Given the description of an element on the screen output the (x, y) to click on. 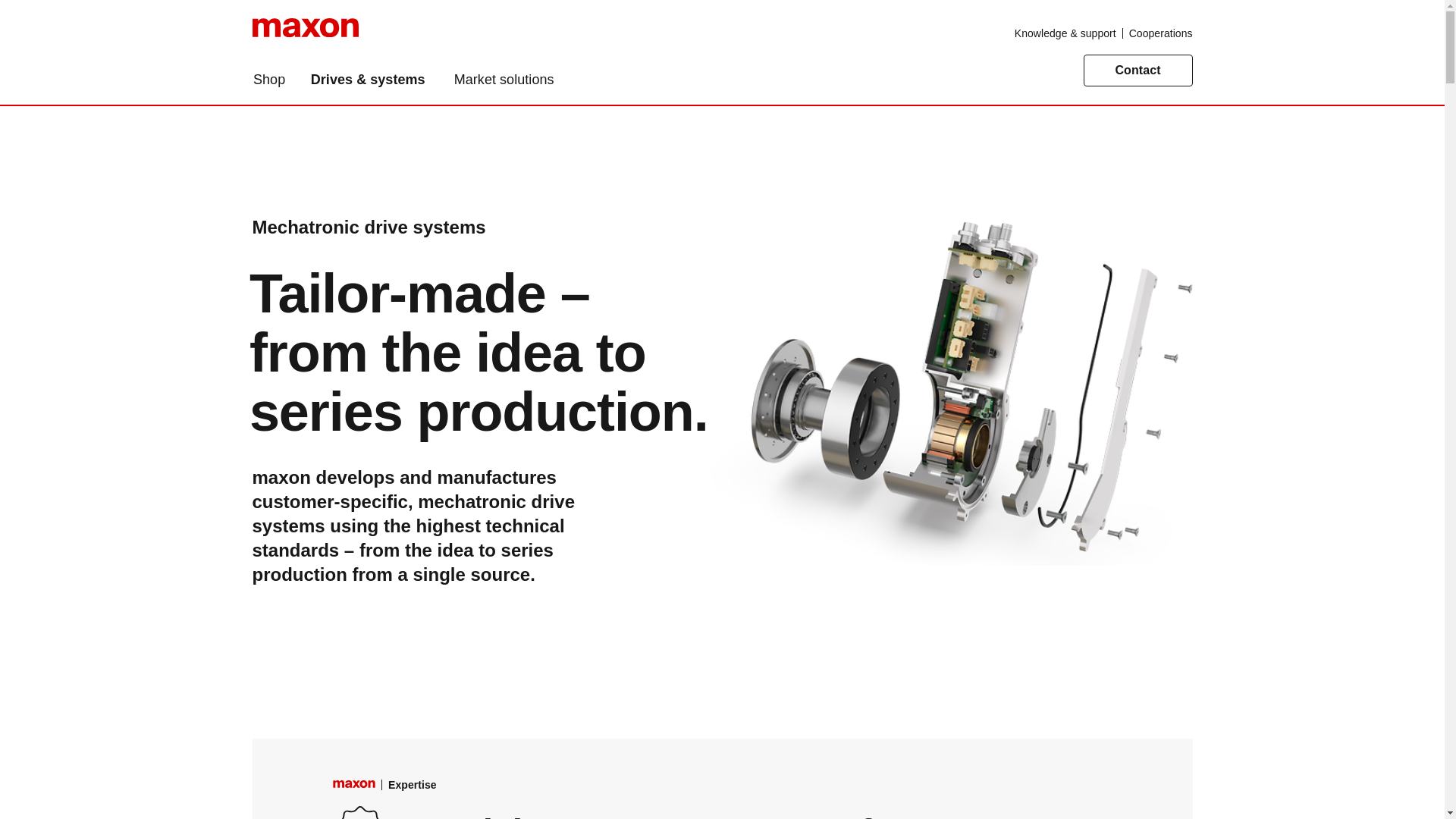
Cooperations (1160, 33)
Market solutions (504, 80)
Shop  (274, 80)
Contact (1137, 70)
Maxon Homepage (304, 33)
Shop (274, 80)
